Given the description of an element on the screen output the (x, y) to click on. 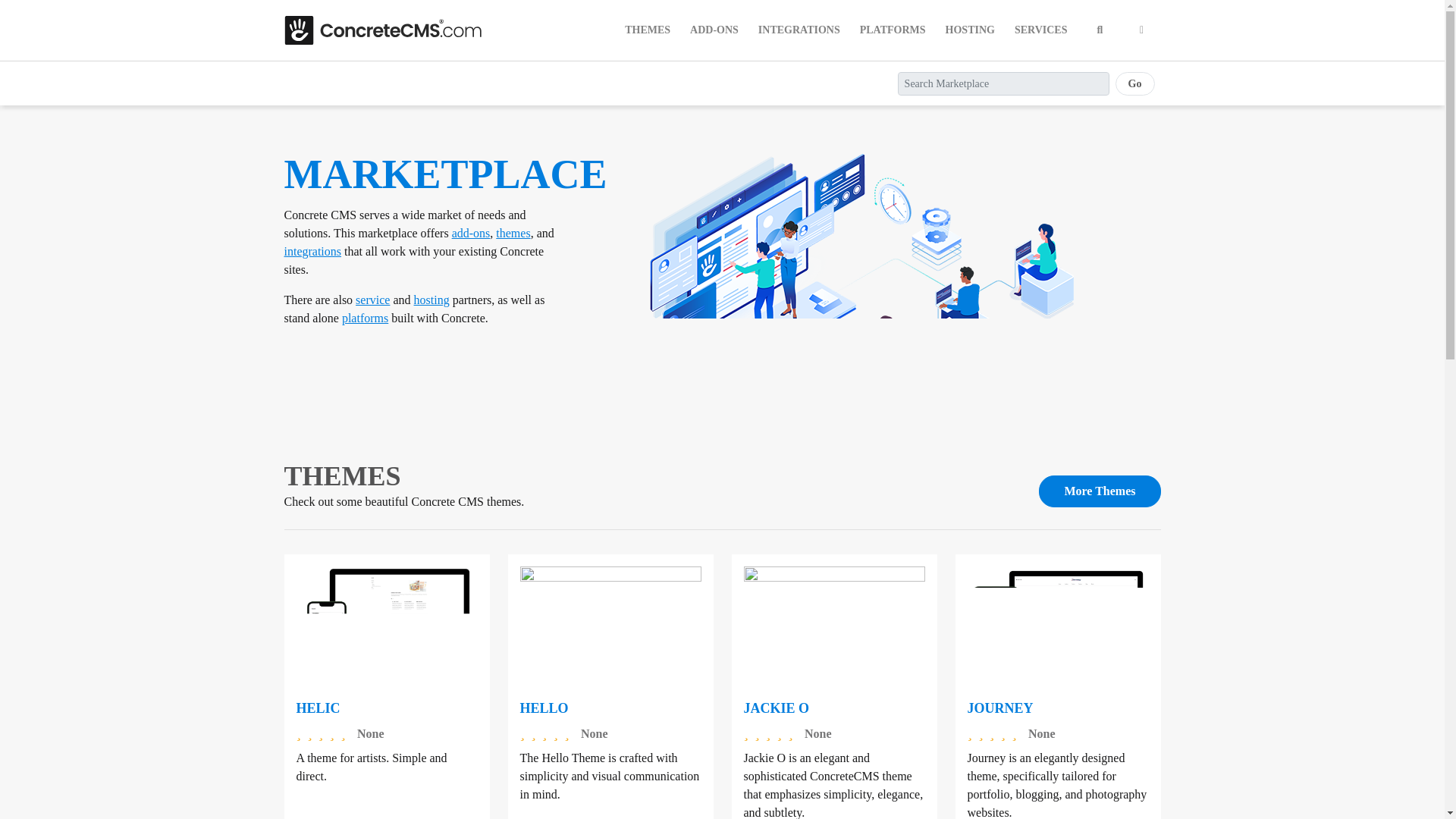
HOSTING (970, 30)
service (372, 299)
SERVICES (1041, 30)
ADD-ONS (714, 30)
HELLO (544, 708)
integrations (311, 250)
Search (1100, 30)
More Themes (1099, 490)
themes (512, 232)
PLATFORMS (892, 30)
